Given the description of an element on the screen output the (x, y) to click on. 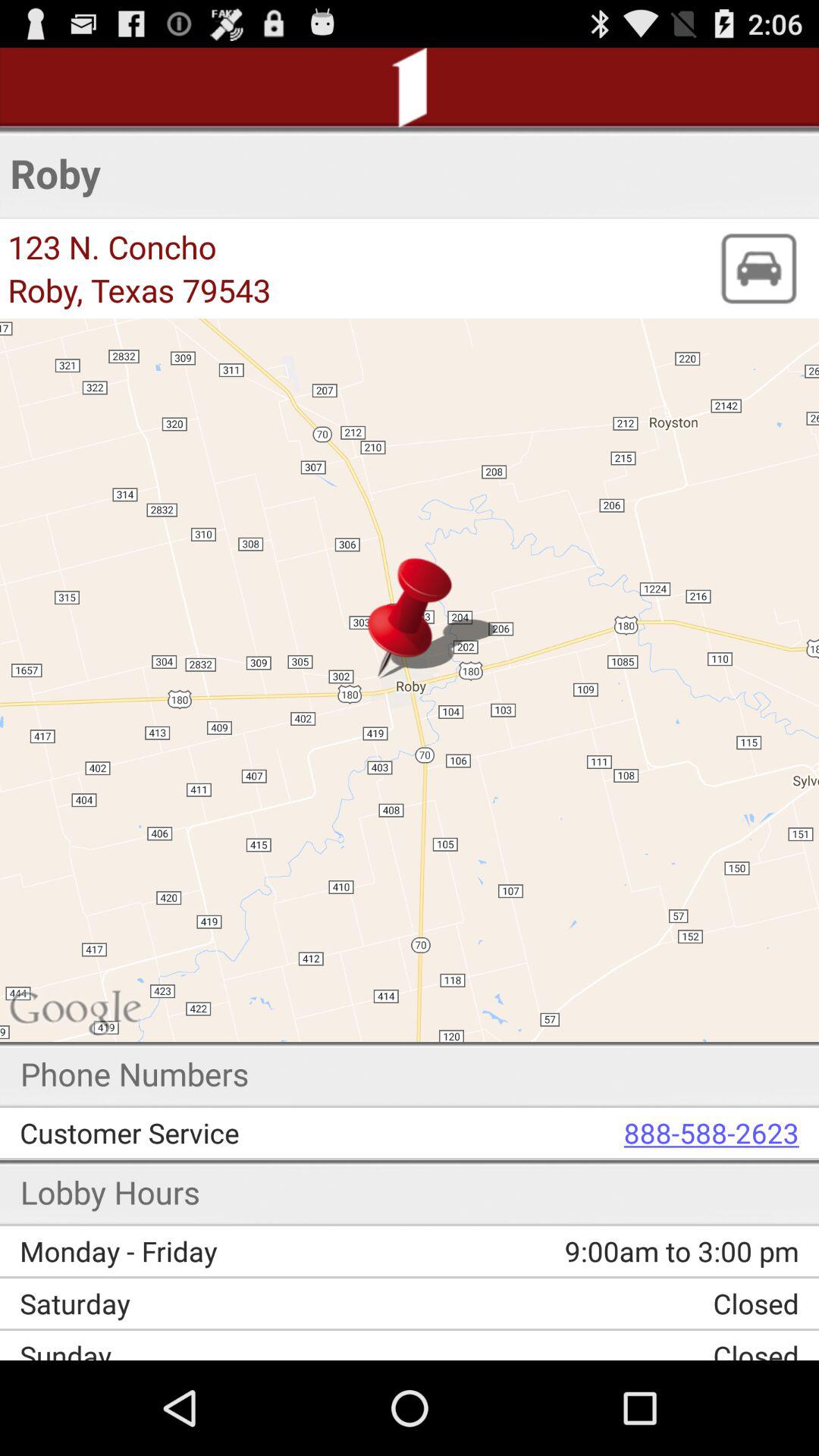
turn off the app next to 888-588-2623 (225, 1132)
